Given the description of an element on the screen output the (x, y) to click on. 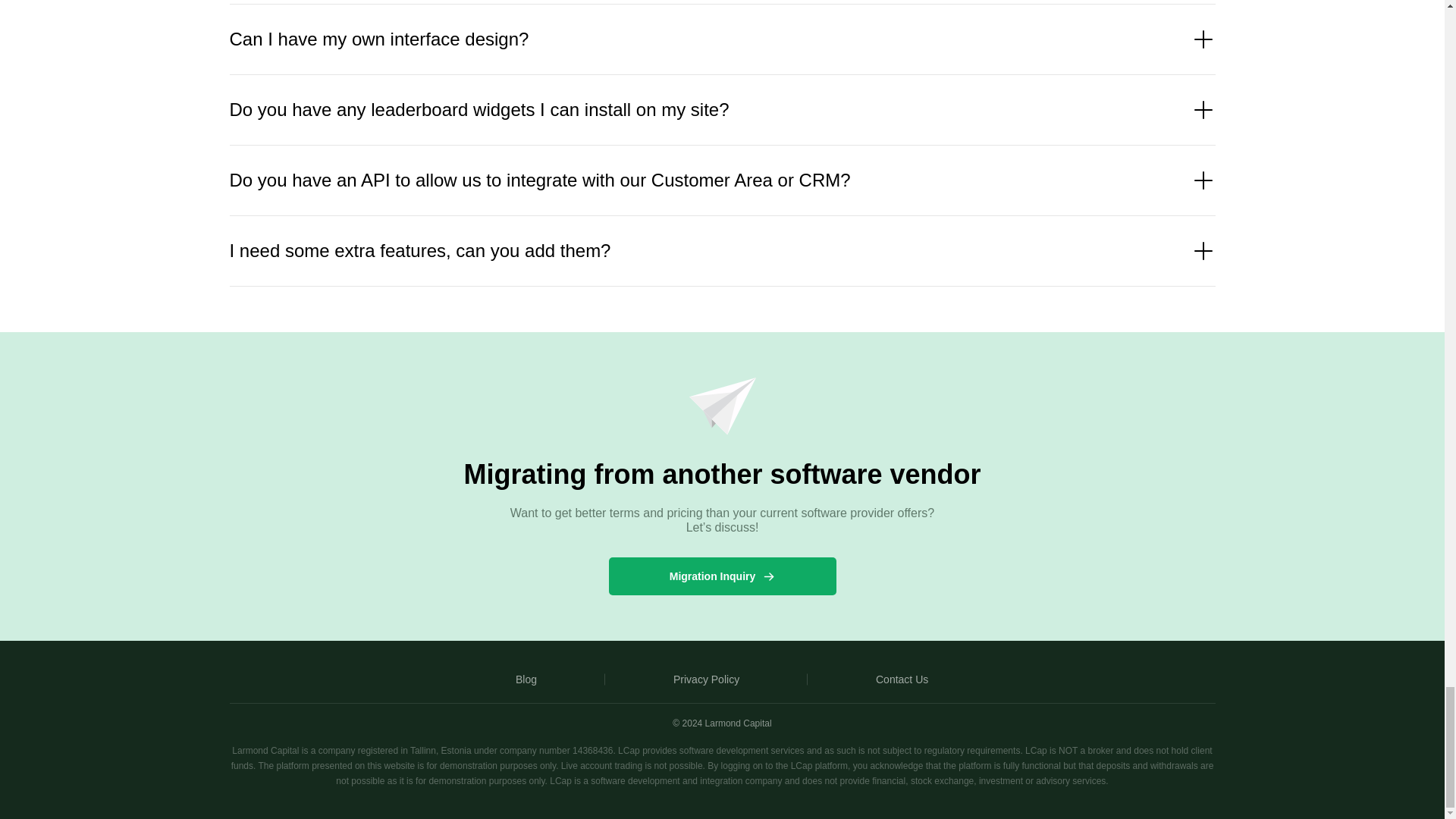
Migration Inquiry (721, 576)
Privacy Policy (705, 678)
Blog (526, 678)
Contact Us (902, 678)
